Given the description of an element on the screen output the (x, y) to click on. 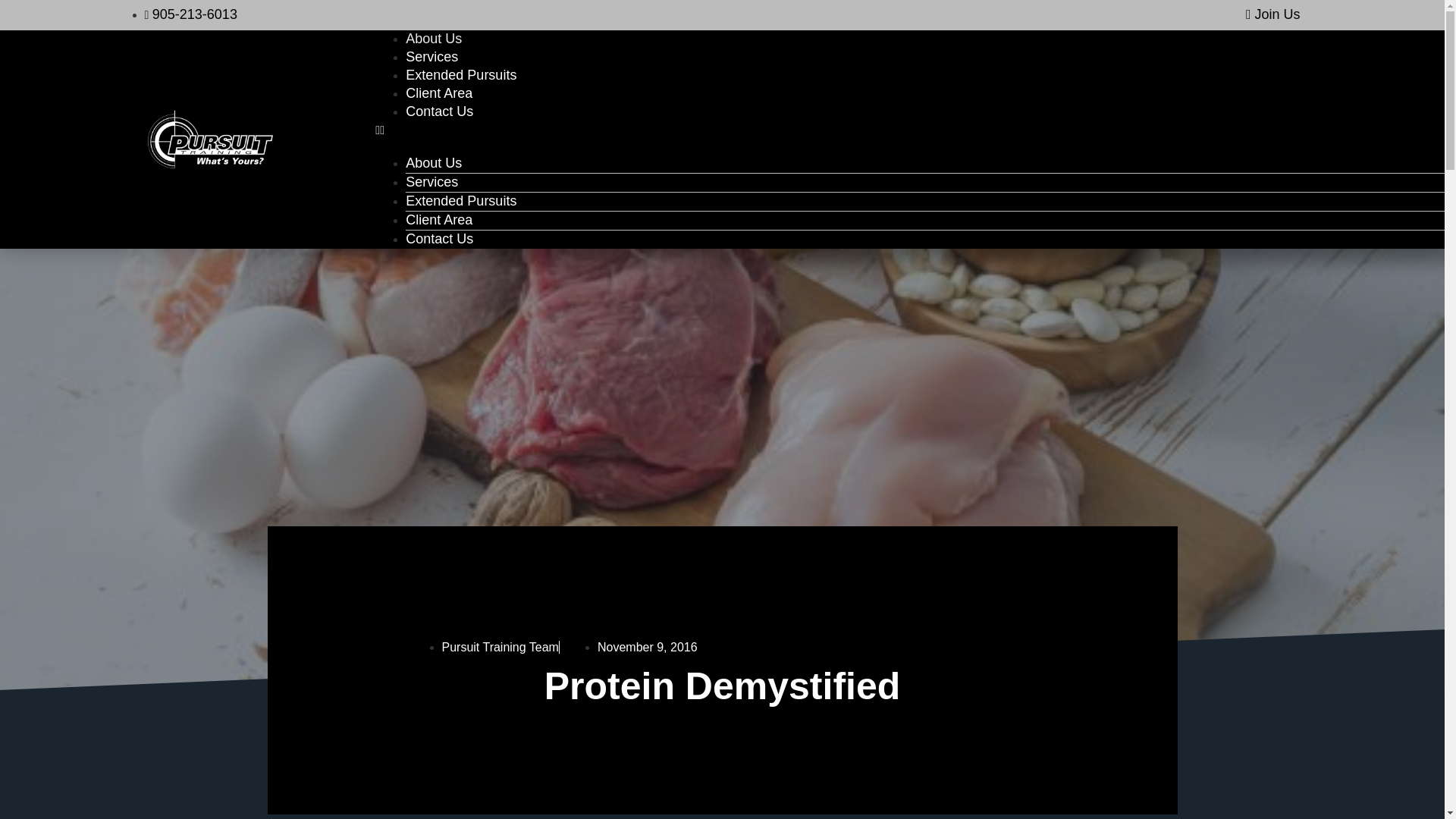
November 9, 2016 (646, 646)
Client Area (438, 92)
Client Area (438, 219)
Contact Us (439, 111)
Extended Pursuits (461, 74)
About Us (433, 162)
Join Us (1273, 14)
About Us (433, 38)
Services (432, 56)
Pursuit Training Team (499, 646)
